Given the description of an element on the screen output the (x, y) to click on. 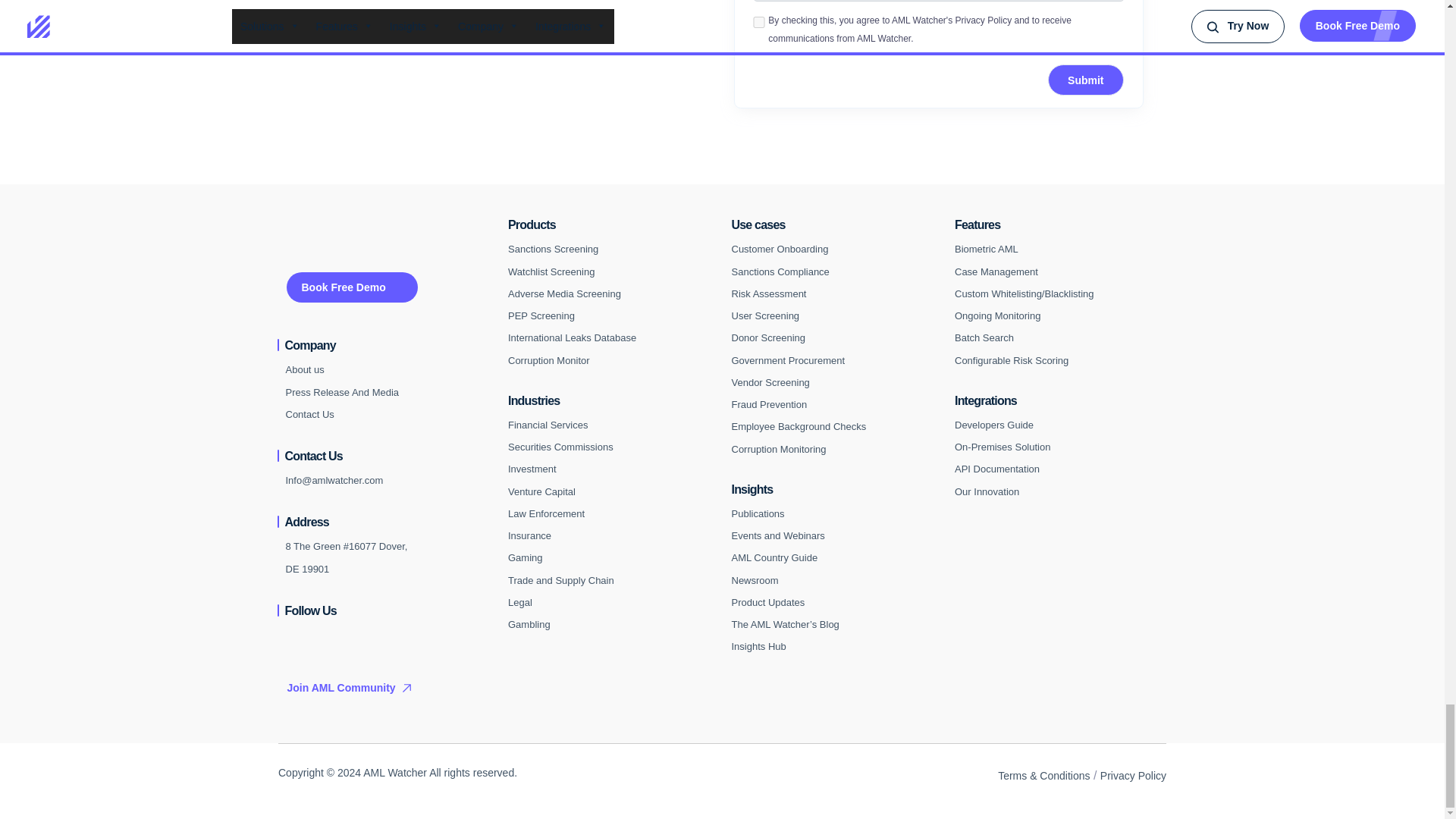
Submit (1085, 79)
1 (758, 21)
